Given the description of an element on the screen output the (x, y) to click on. 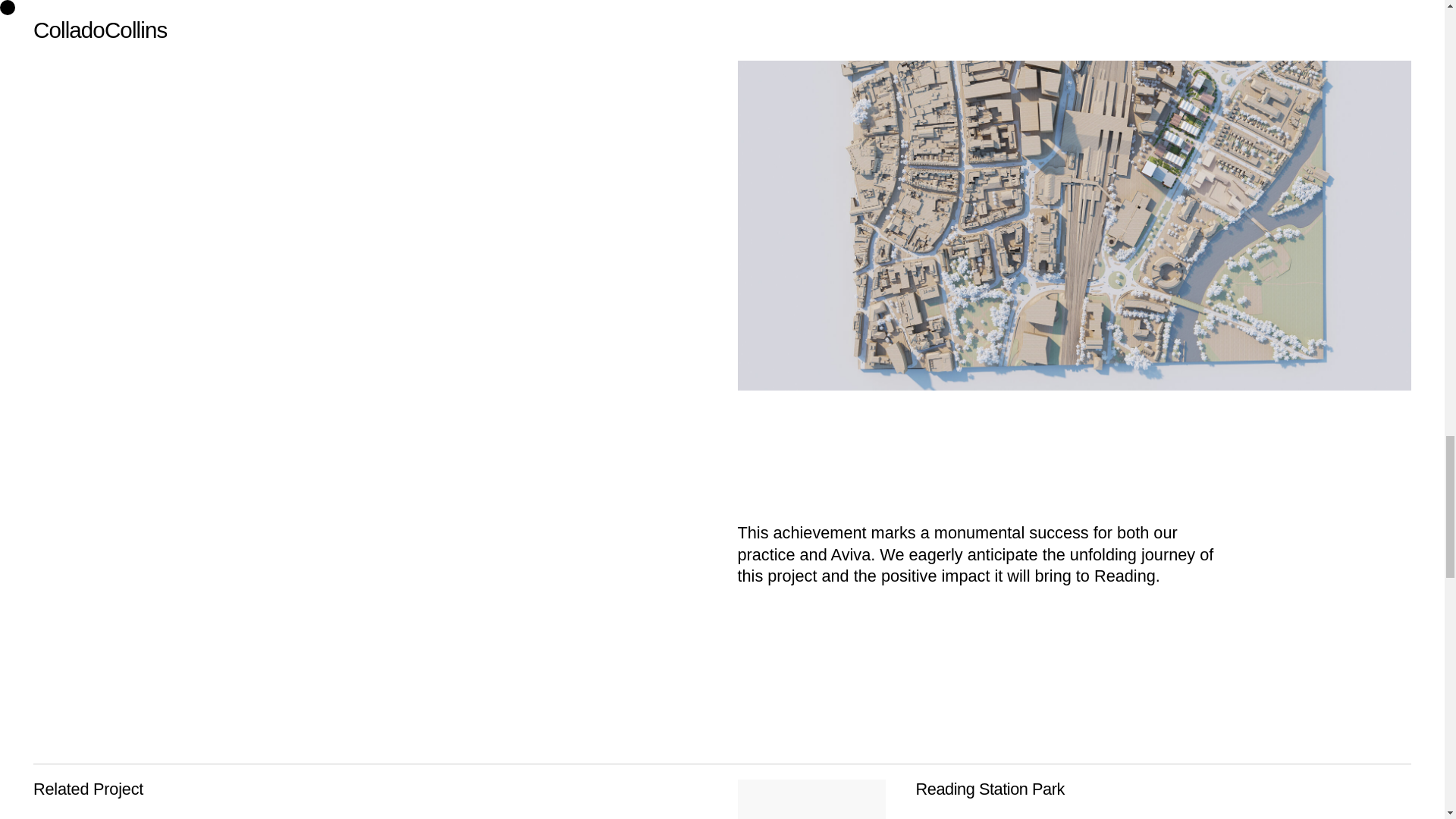
Reading Station Park (989, 788)
